Given the description of an element on the screen output the (x, y) to click on. 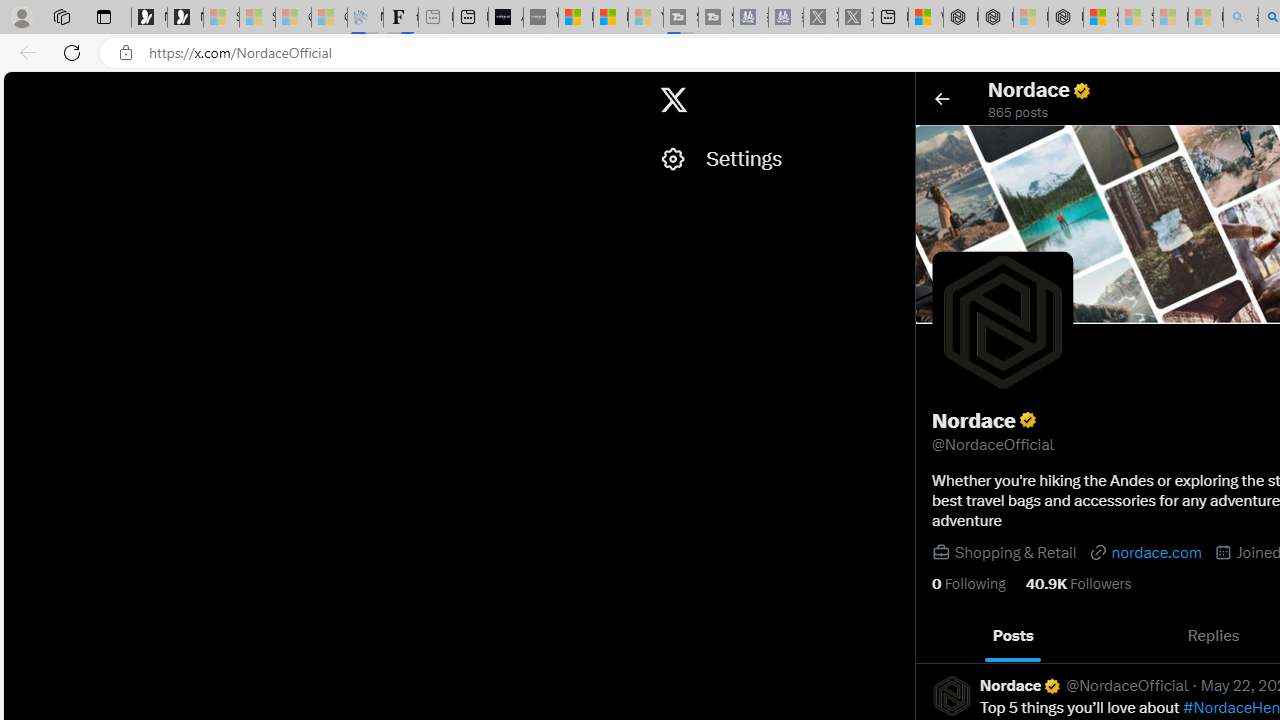
Square profile picture (952, 695)
Nordace - Nordace Siena Is Not An Ordinary Backpack (1065, 17)
Previous (938, 636)
0 Following (968, 583)
Square profile picture and Opens profile photo (1002, 321)
